Given the description of an element on the screen output the (x, y) to click on. 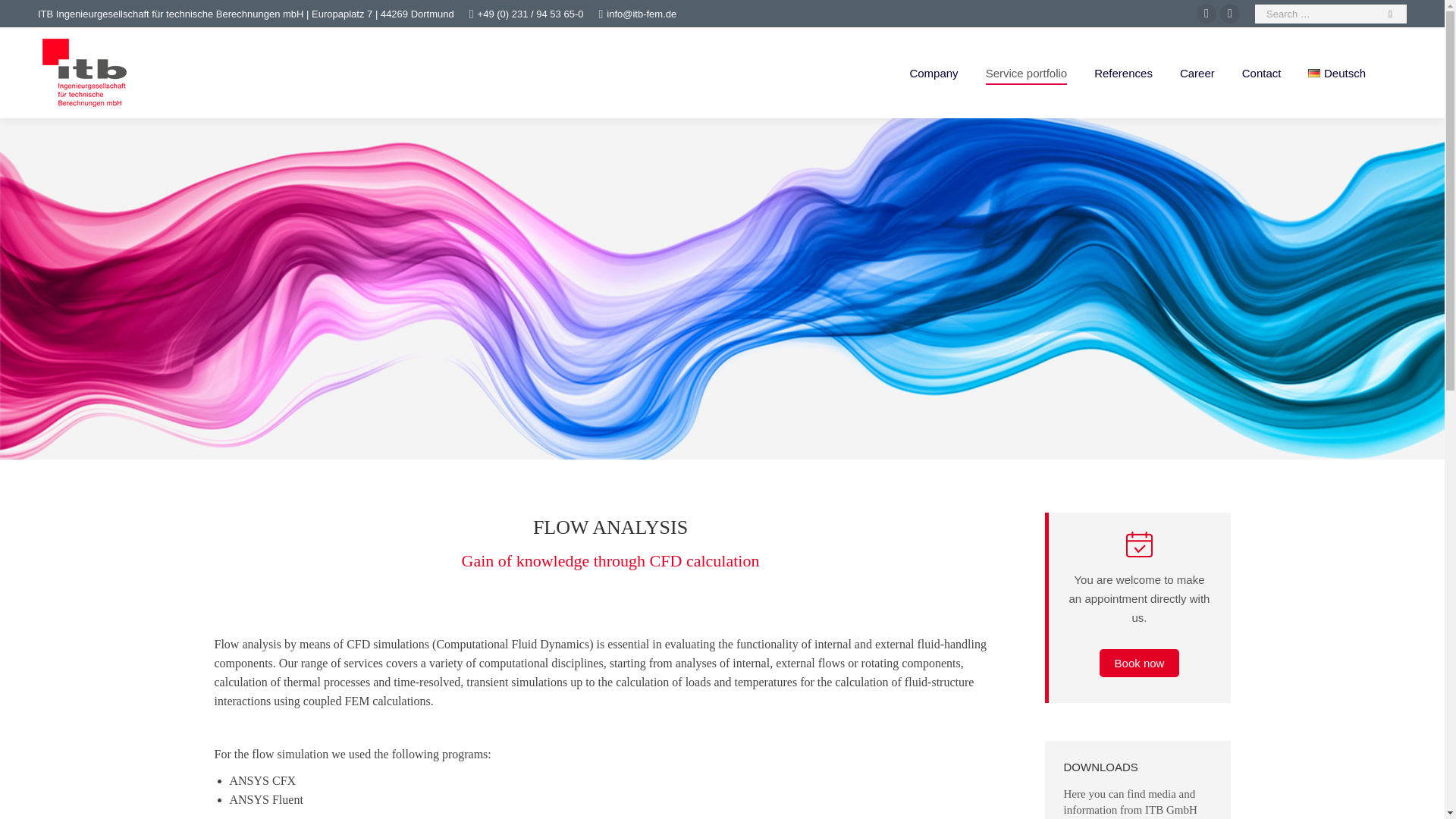
Go! (24, 16)
Search form (1330, 13)
Deutsch (1336, 72)
YouTube page opens in new window (1205, 13)
Company (932, 72)
References (1123, 72)
Service portfolio (1026, 72)
Career (1196, 72)
Linkedin page opens in new window (1230, 13)
Contact (1261, 72)
